Given the description of an element on the screen output the (x, y) to click on. 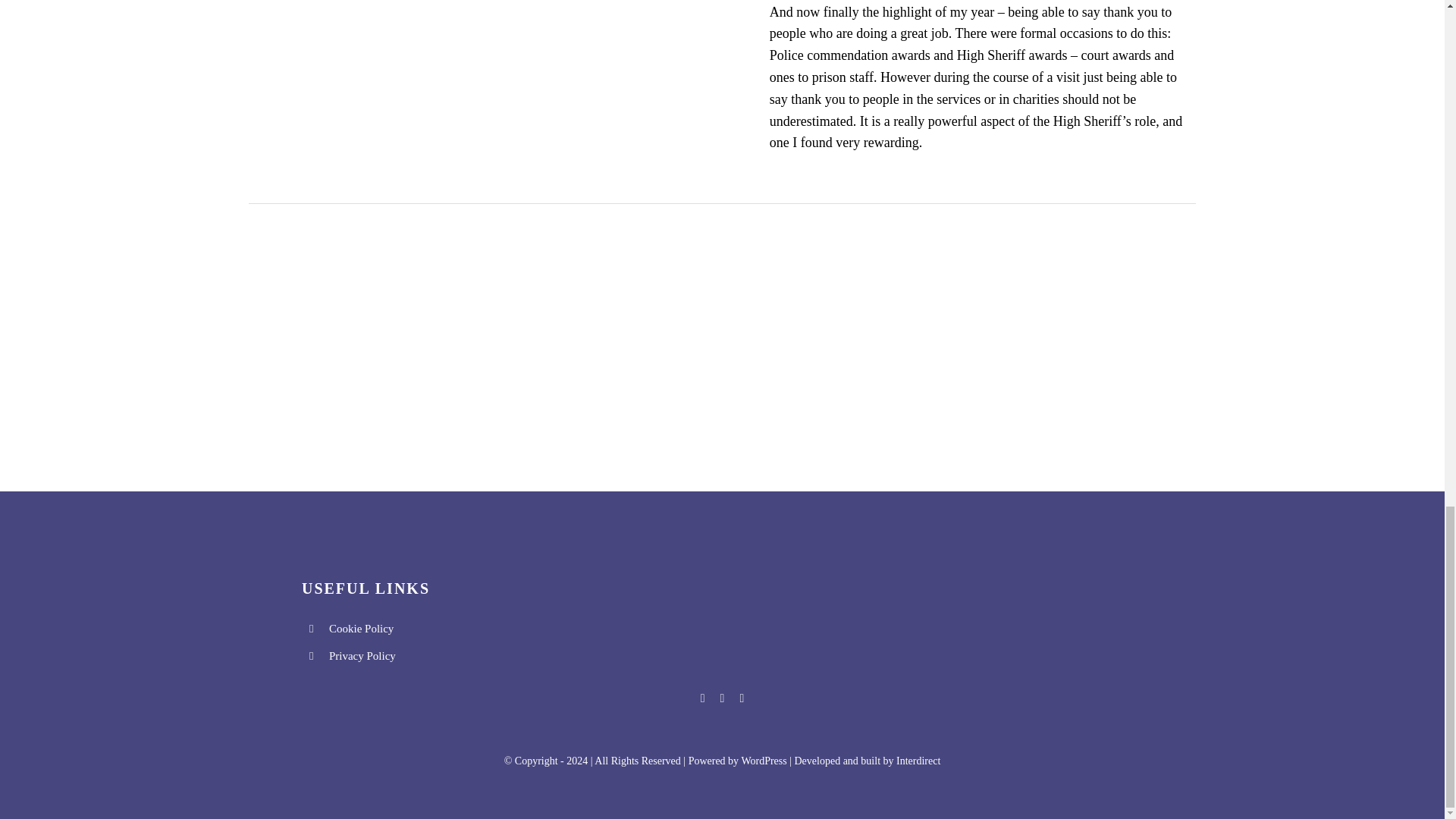
WordPress (763, 760)
Cookie Policy (361, 628)
Privacy Policy (362, 655)
Interdirect (918, 760)
